Given the description of an element on the screen output the (x, y) to click on. 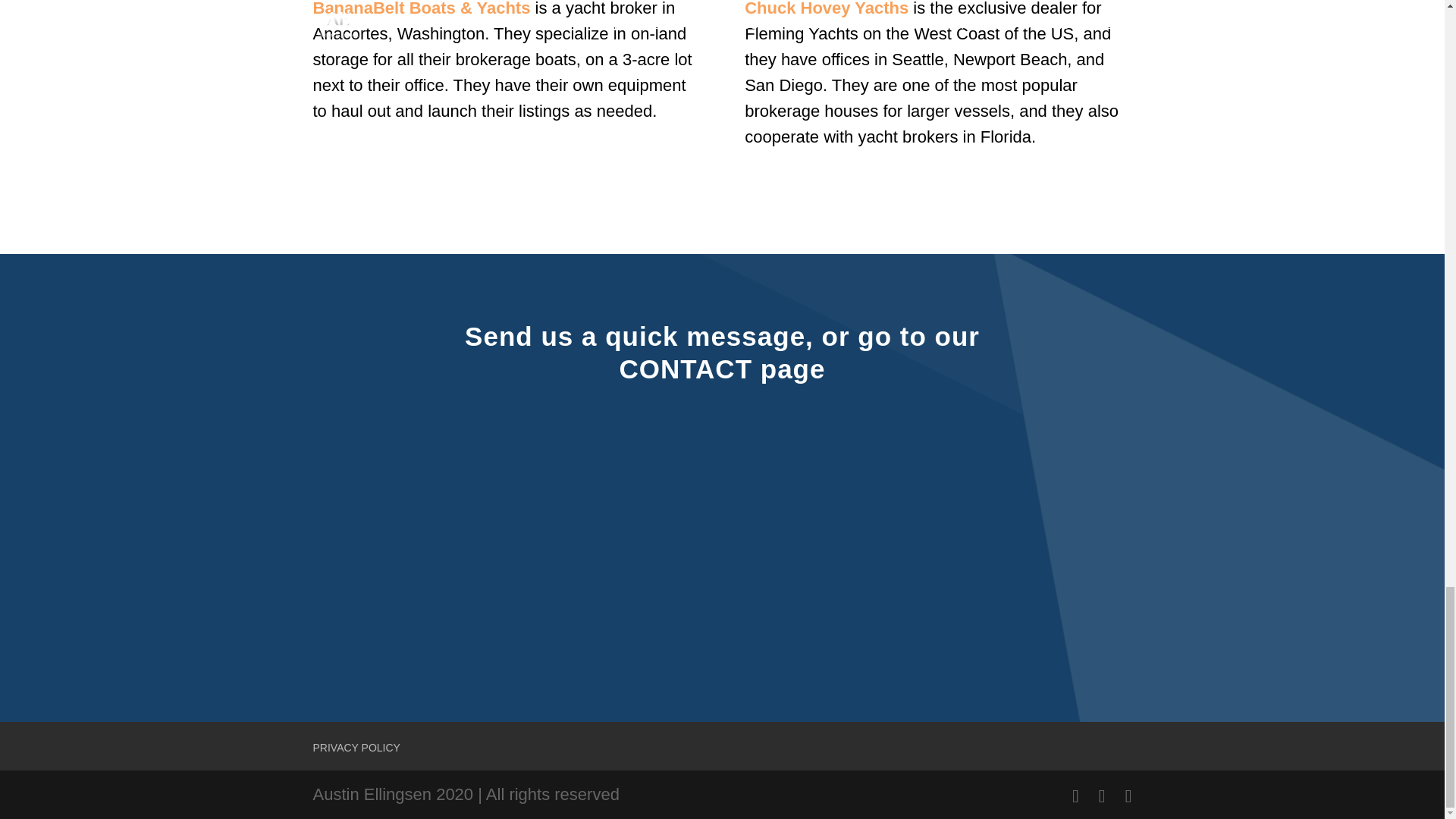
PRIVACY POLICY (355, 747)
Chuck Hovey Yacths (826, 8)
Used Boats For Sale (421, 8)
New and Used Yachts For Sale (826, 8)
CONTACT (686, 368)
